Given the description of an element on the screen output the (x, y) to click on. 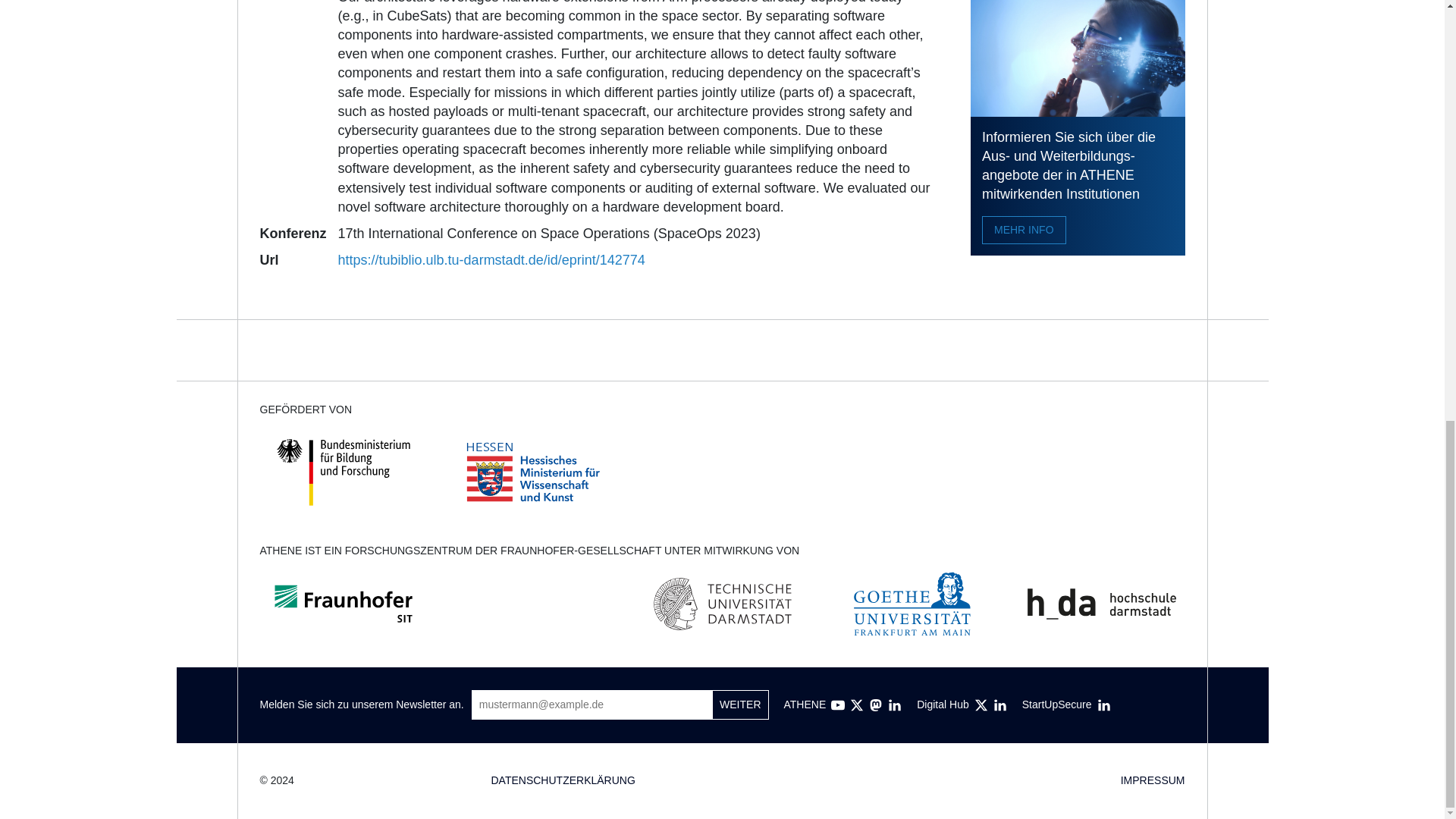
Twitter (856, 704)
LinkedIn (894, 704)
Twitter (981, 704)
LinkedIn (1103, 704)
Mastodon (875, 704)
YouTube (837, 704)
LinkedIn (999, 704)
